Given the description of an element on the screen output the (x, y) to click on. 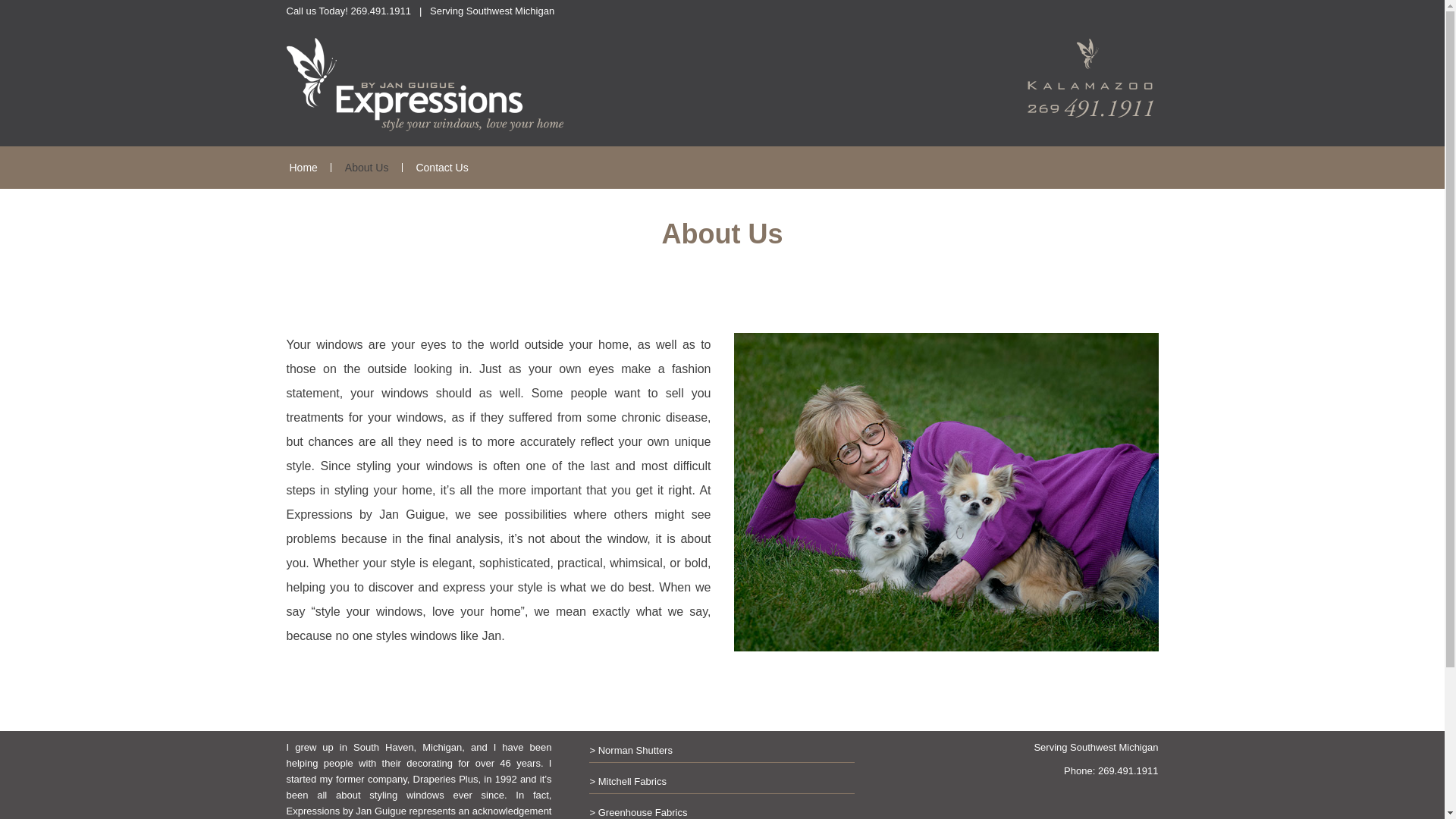
Contact Us (441, 167)
Home (303, 167)
About Us (366, 167)
